Given the description of an element on the screen output the (x, y) to click on. 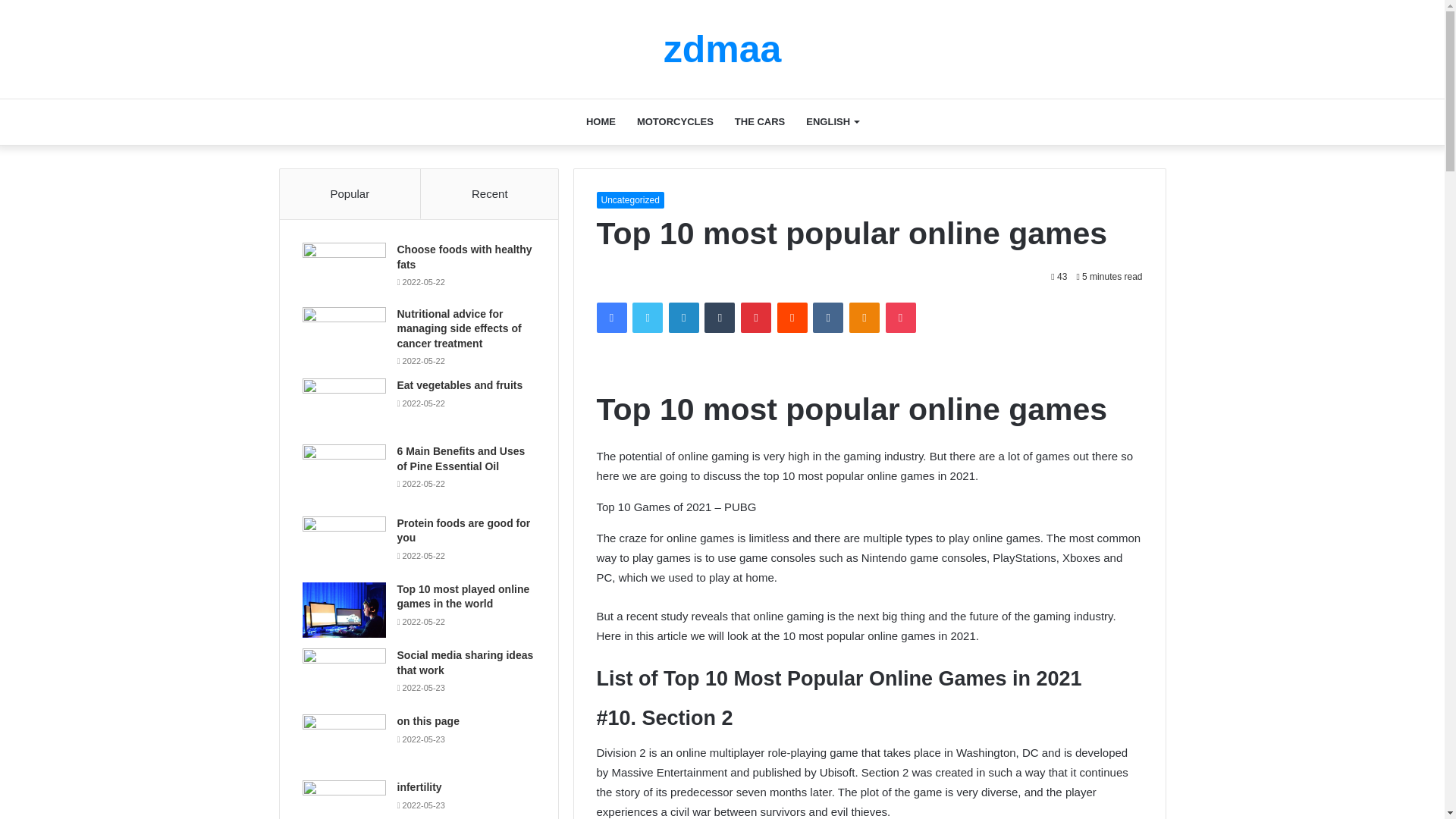
VKontakte (827, 317)
VKontakte (827, 317)
zdmaa (722, 48)
Pinterest (756, 317)
Twitter (646, 317)
LinkedIn (683, 317)
English (831, 121)
zdmaa (722, 48)
Reddit (792, 317)
Pinterest (756, 317)
Reddit (792, 317)
HOME (600, 121)
Tumblr (719, 317)
Facebook (610, 317)
Uncategorized (629, 199)
